Given the description of an element on the screen output the (x, y) to click on. 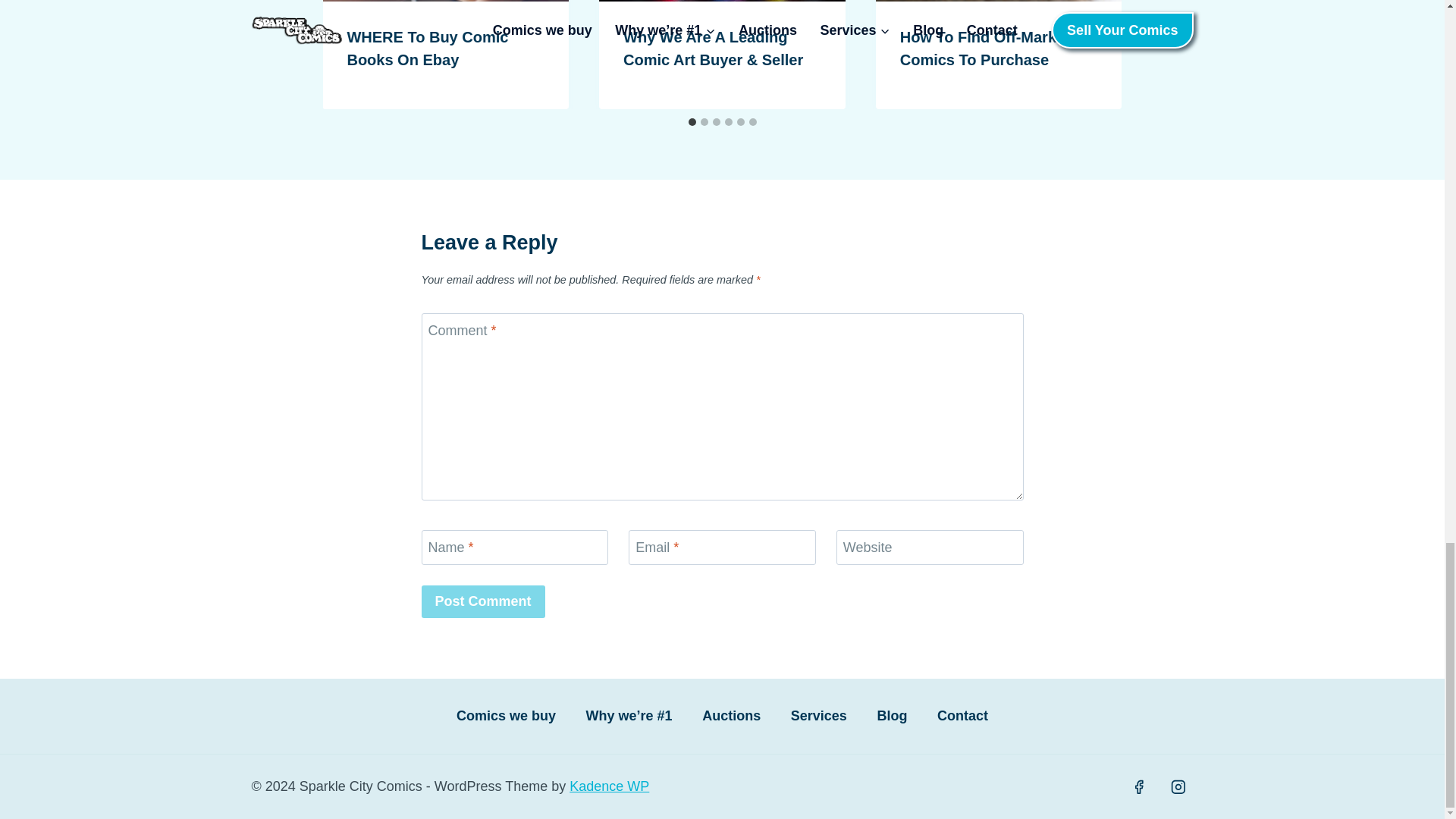
Post Comment (483, 601)
